Given the description of an element on the screen output the (x, y) to click on. 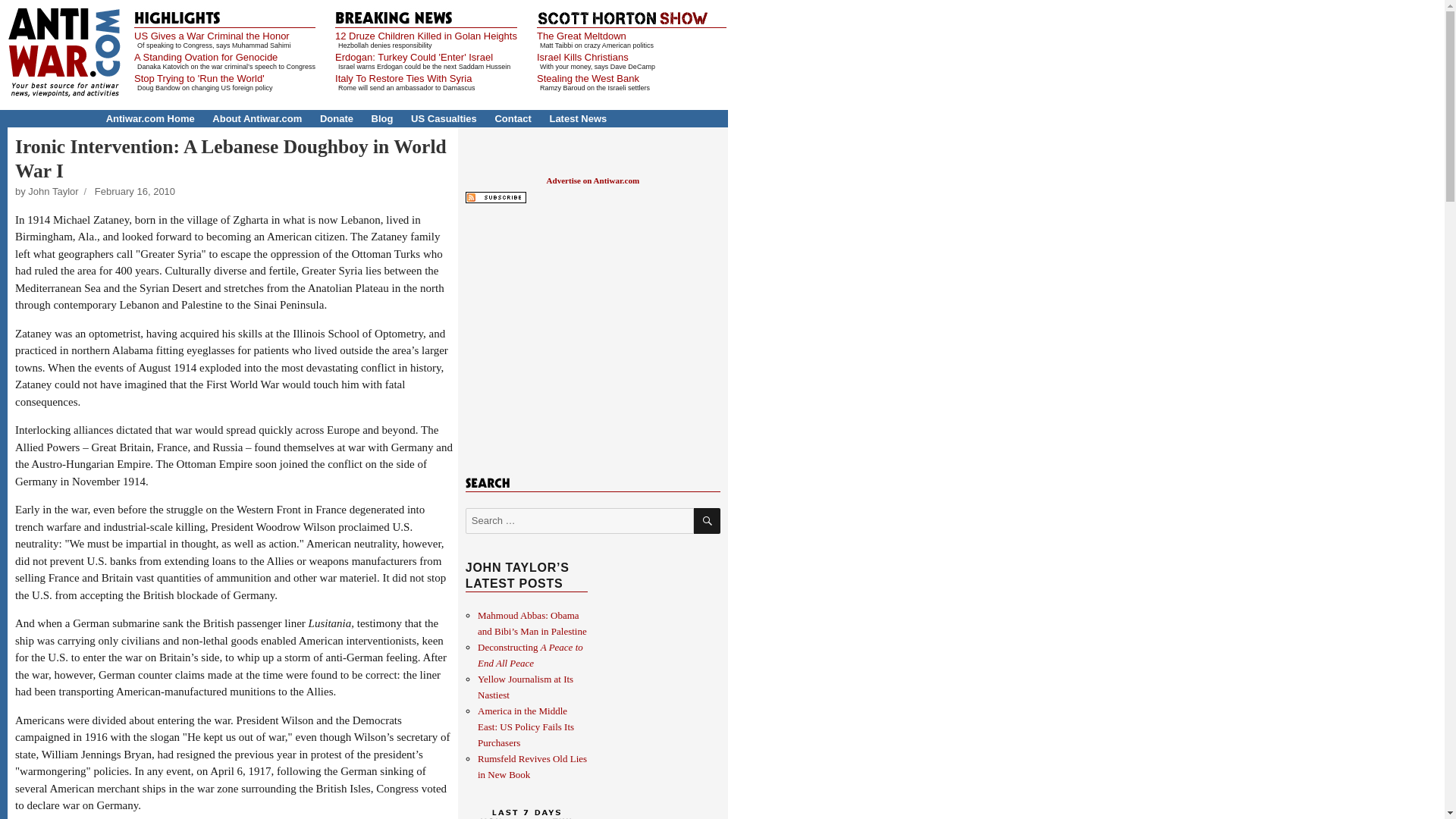
February 16, 2010 (134, 191)
US Gives a War Criminal the Honor (211, 35)
12 Druze Children Killed in Golan Heights (425, 35)
Erdogan: Turkey Could 'Enter' Israel (413, 57)
John Taylor (52, 191)
3rd party ad content (592, 337)
Israel Kills Christians (582, 57)
Contact (513, 118)
Donate (336, 118)
A Standing Ovation for Genocide (205, 57)
The Great Meltdown (581, 35)
Stealing the West Bank (588, 78)
US Casualties (443, 118)
About Antiwar.com (256, 118)
Latest News (577, 118)
